Given the description of an element on the screen output the (x, y) to click on. 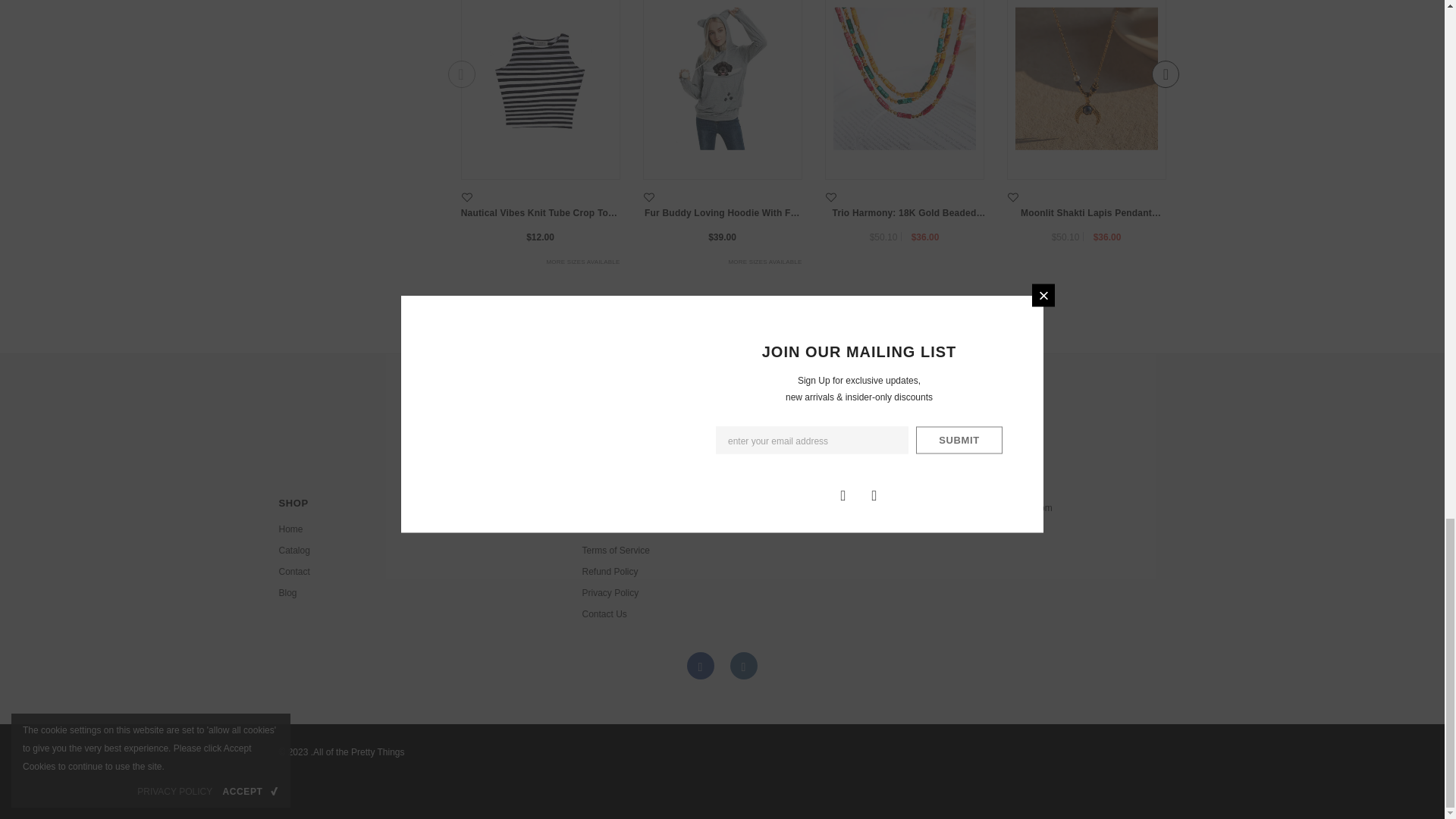
Submit (869, 439)
